Given the description of an element on the screen output the (x, y) to click on. 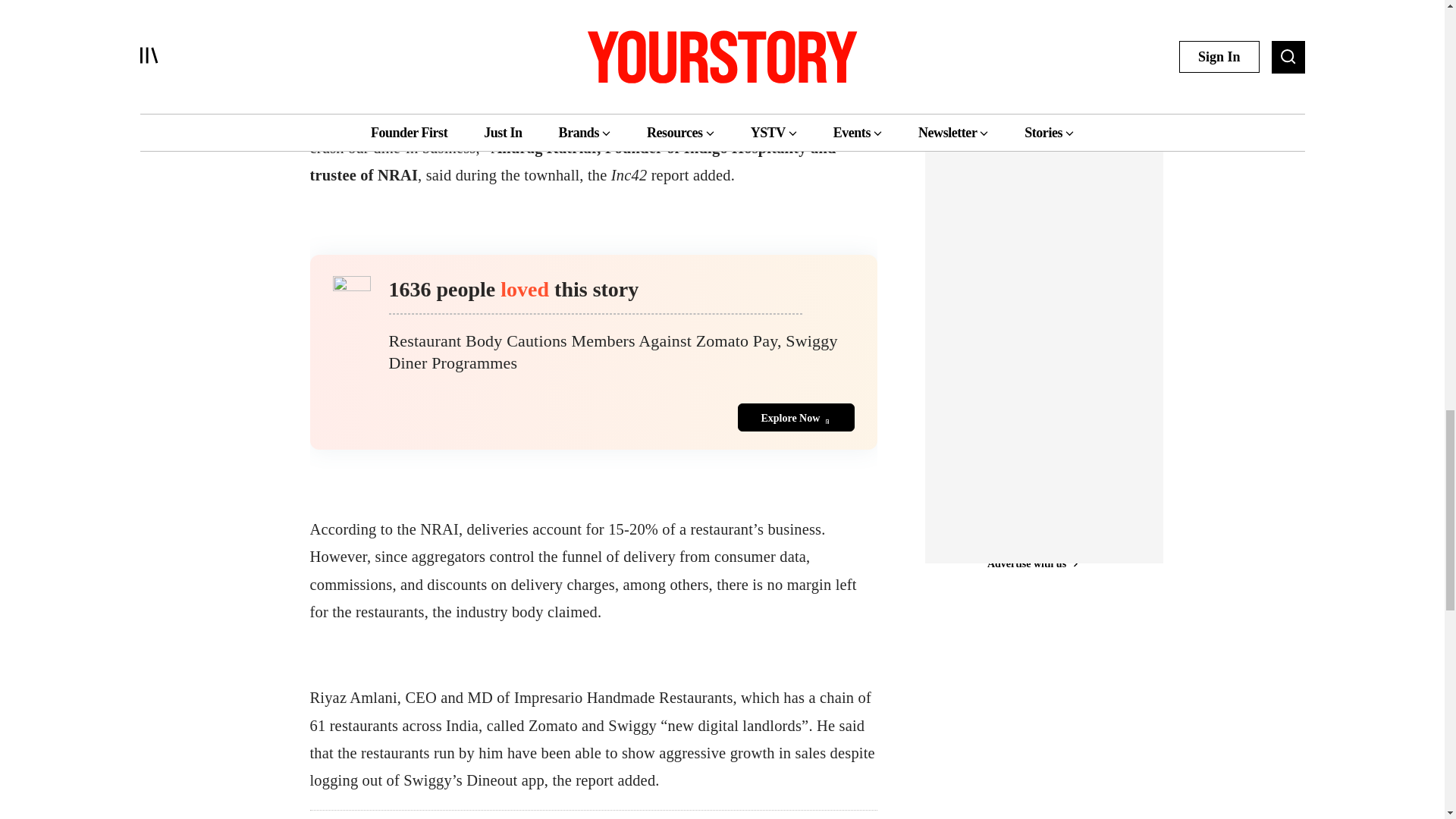
Explore Now (794, 417)
Explore Now (592, 417)
